Given the description of an element on the screen output the (x, y) to click on. 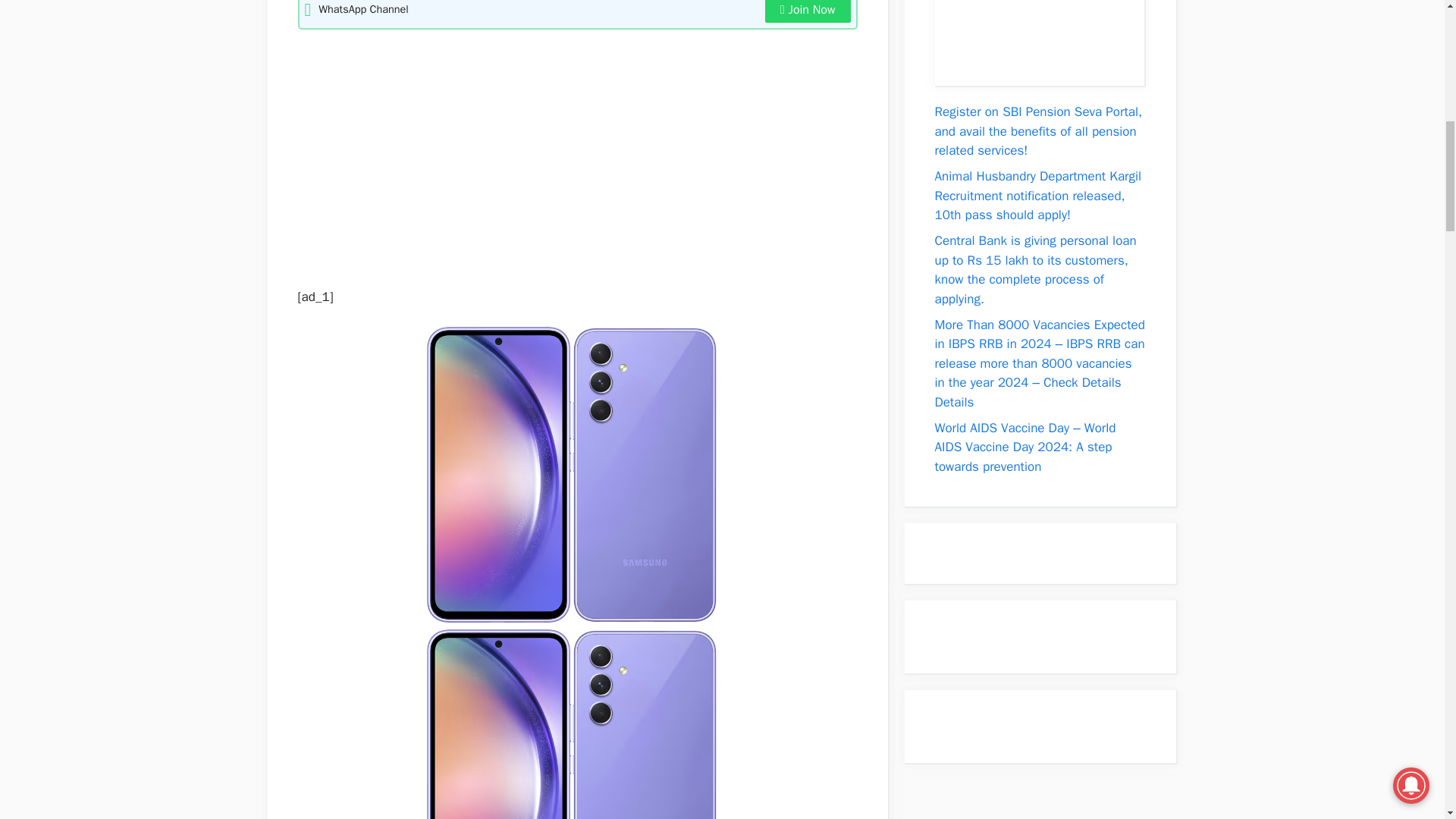
samsung-galaxy-a54-5g-phone (561, 723)
Advertisement (569, 151)
Join Now (807, 11)
